Given the description of an element on the screen output the (x, y) to click on. 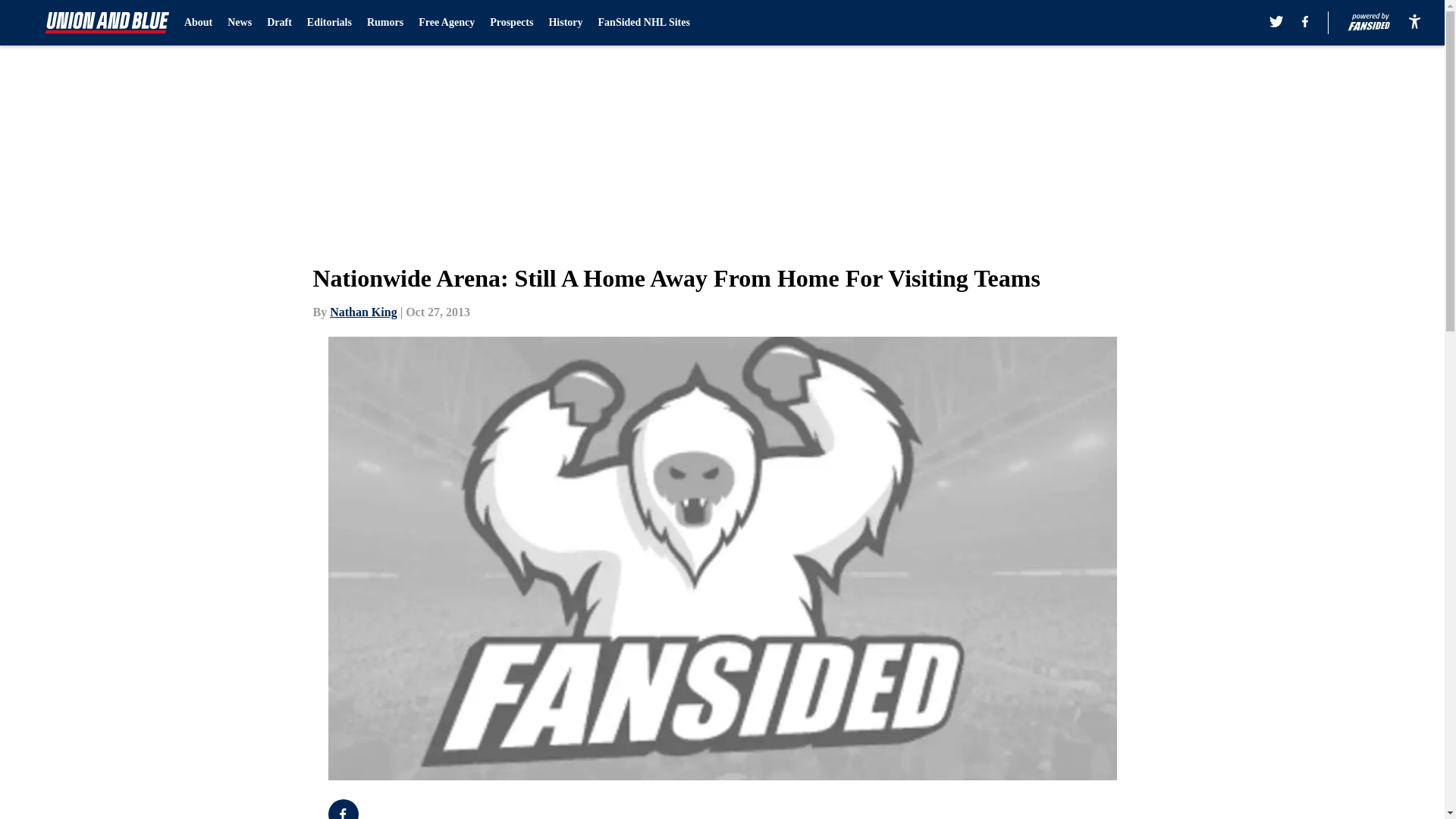
History (565, 22)
Draft (279, 22)
FanSided NHL Sites (644, 22)
Editorials (329, 22)
Prospects (510, 22)
About (198, 22)
Free Agency (446, 22)
Rumors (384, 22)
News (239, 22)
Nathan King (363, 311)
